Given the description of an element on the screen output the (x, y) to click on. 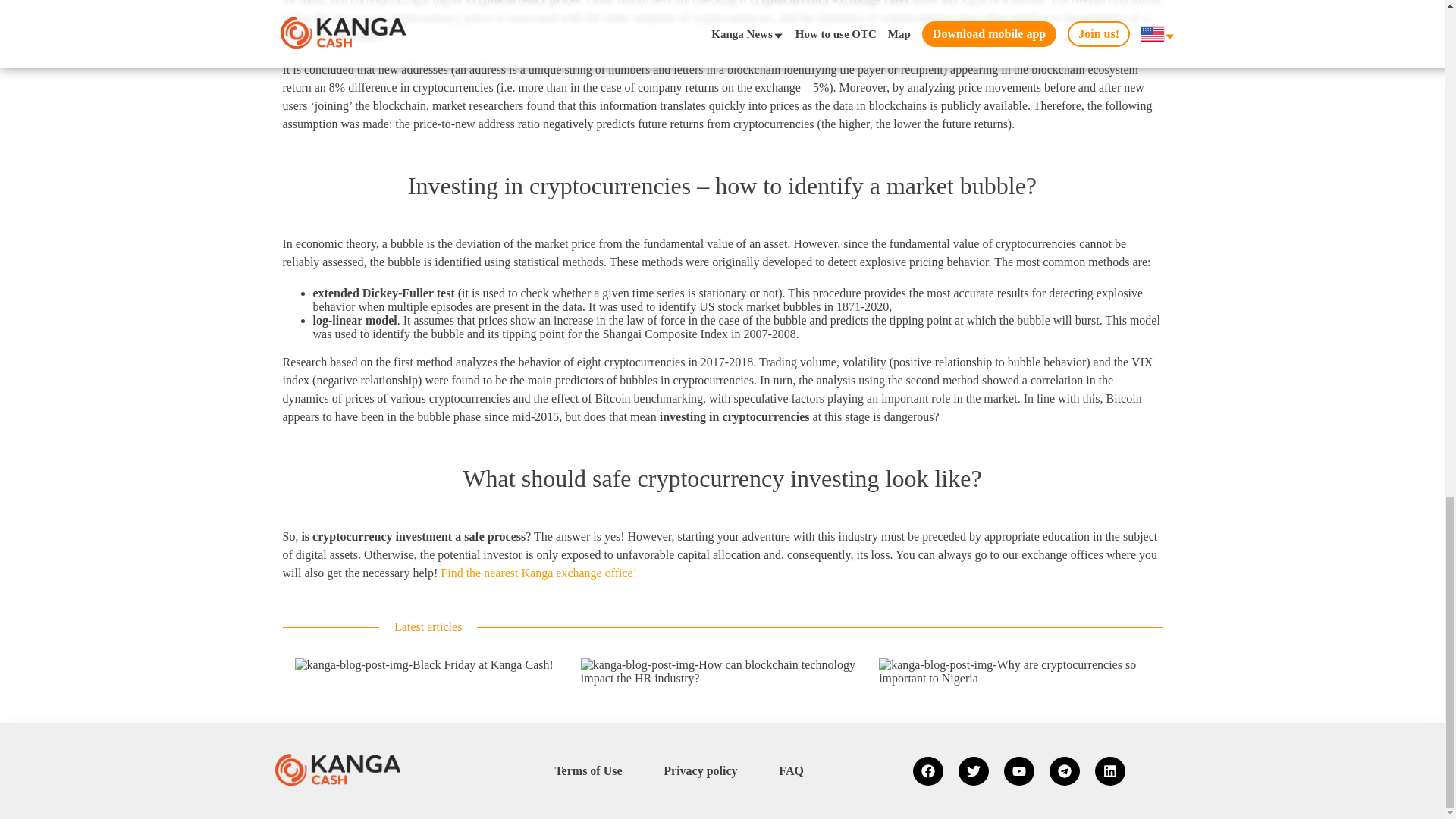
Terms of Use (587, 770)
Find the nearest Kanga exchange office! (539, 572)
FAQ (790, 770)
Privacy policy (699, 770)
